Given the description of an element on the screen output the (x, y) to click on. 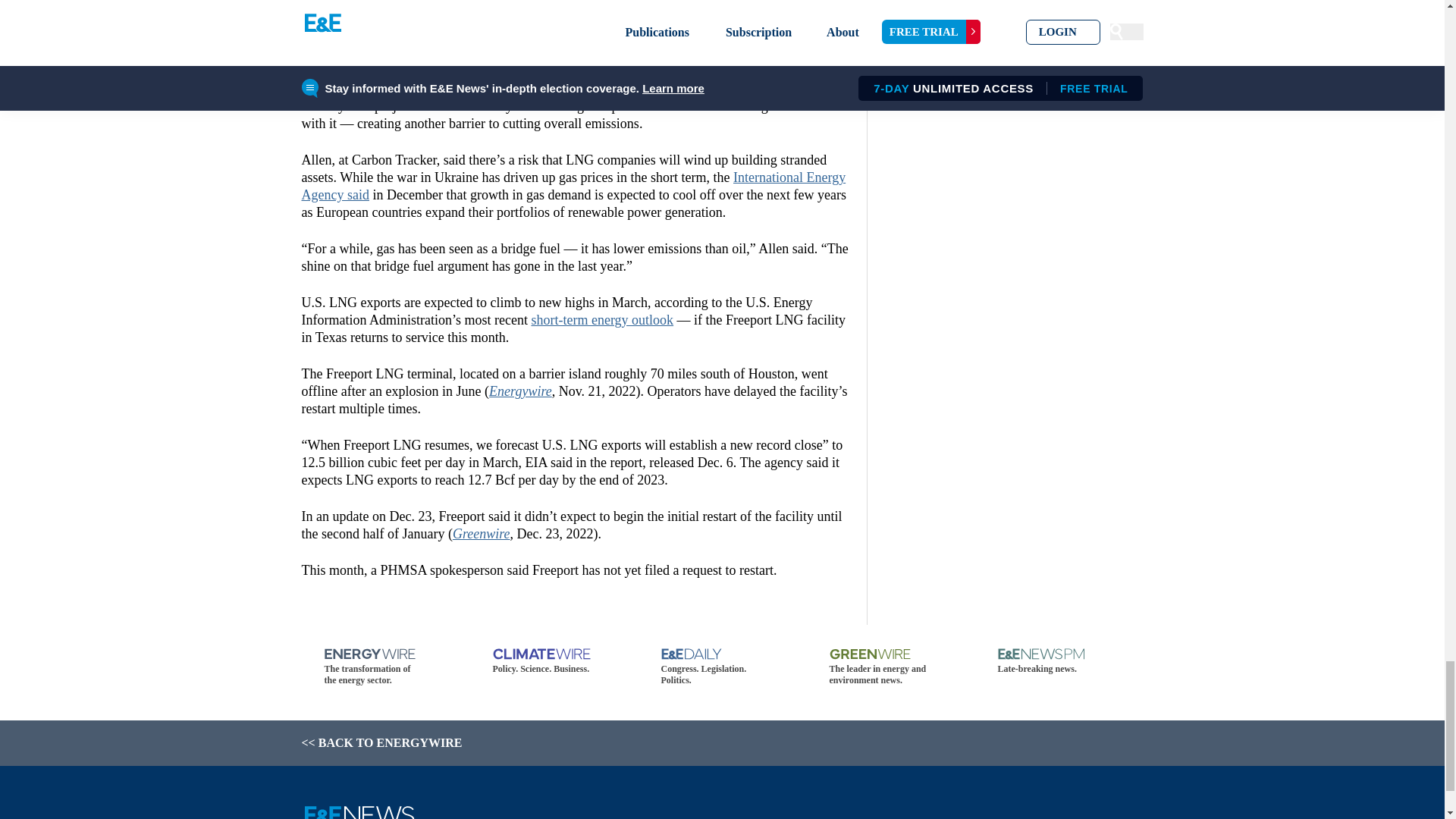
short-term energy outlook (601, 319)
Energywire (520, 391)
International Energy Agency said (573, 185)
Greenwire (481, 533)
